Given the description of an element on the screen output the (x, y) to click on. 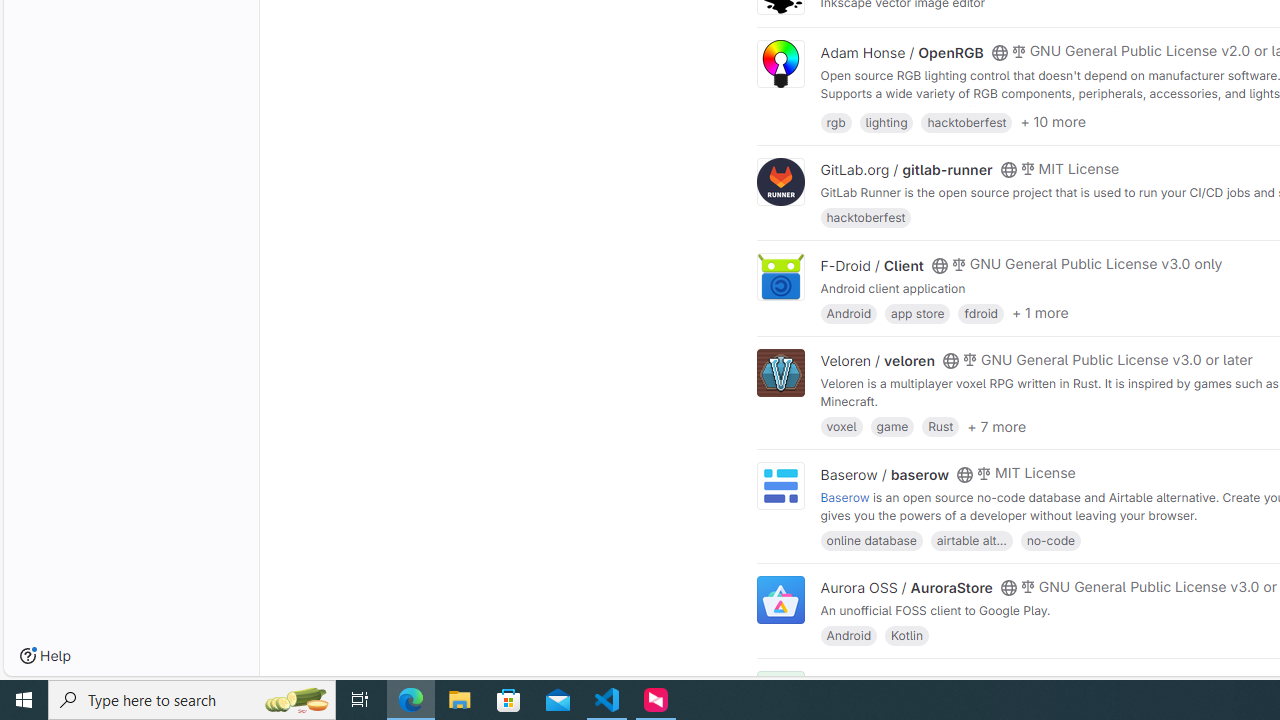
Class: s14 gl-mr-2 (1018, 681)
GitLab.org / gitlab-runner (906, 170)
+ 1 more (1039, 313)
F-Droid / Client (872, 265)
F (780, 695)
online database (871, 539)
rgb (836, 120)
https://openrgb.org (989, 110)
Aurora OSS / AuroraStore (906, 587)
+ 7 more (996, 425)
Baserow / baserow (884, 474)
airtable alt... (971, 539)
Kotlin (907, 634)
Class: project (780, 599)
Baserow (845, 496)
